Given the description of an element on the screen output the (x, y) to click on. 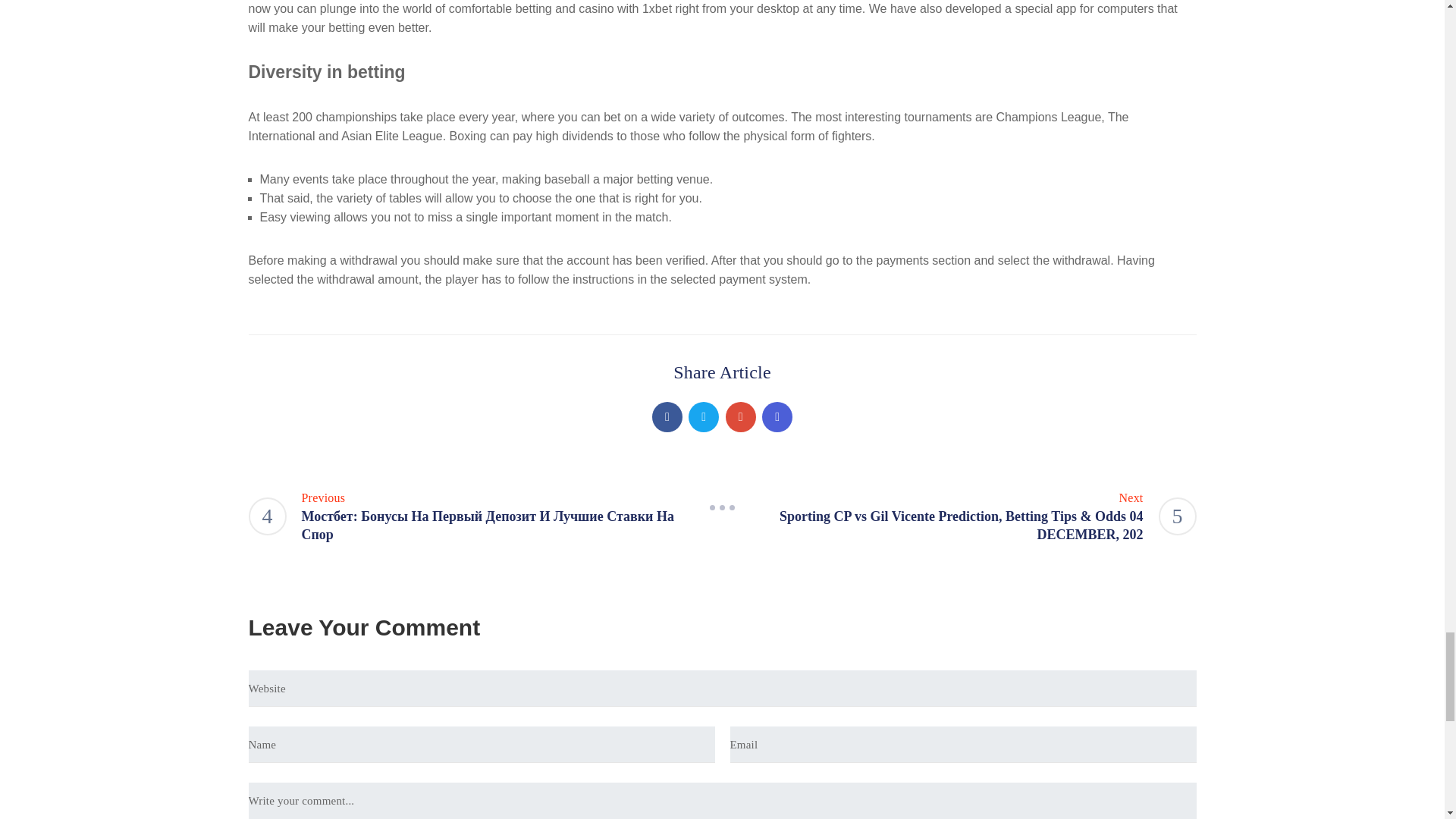
Twitter (703, 417)
Linkedin (776, 417)
Facebook (667, 417)
Slash (722, 507)
Pinterest (740, 417)
